Given the description of an element on the screen output the (x, y) to click on. 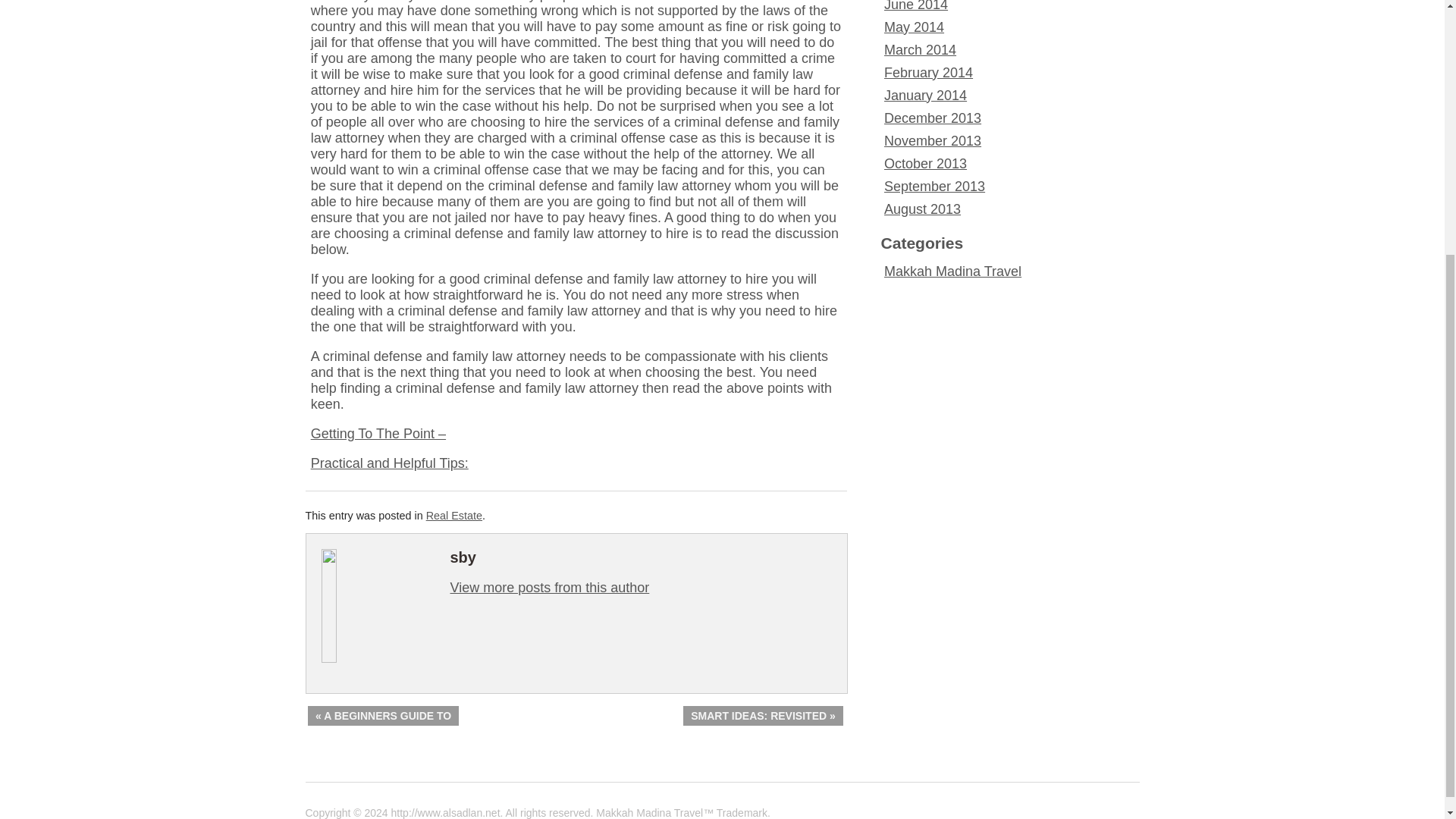
Real Estate (453, 515)
Practical and Helpful Tips: (389, 462)
View more posts from this author (549, 587)
